Given the description of an element on the screen output the (x, y) to click on. 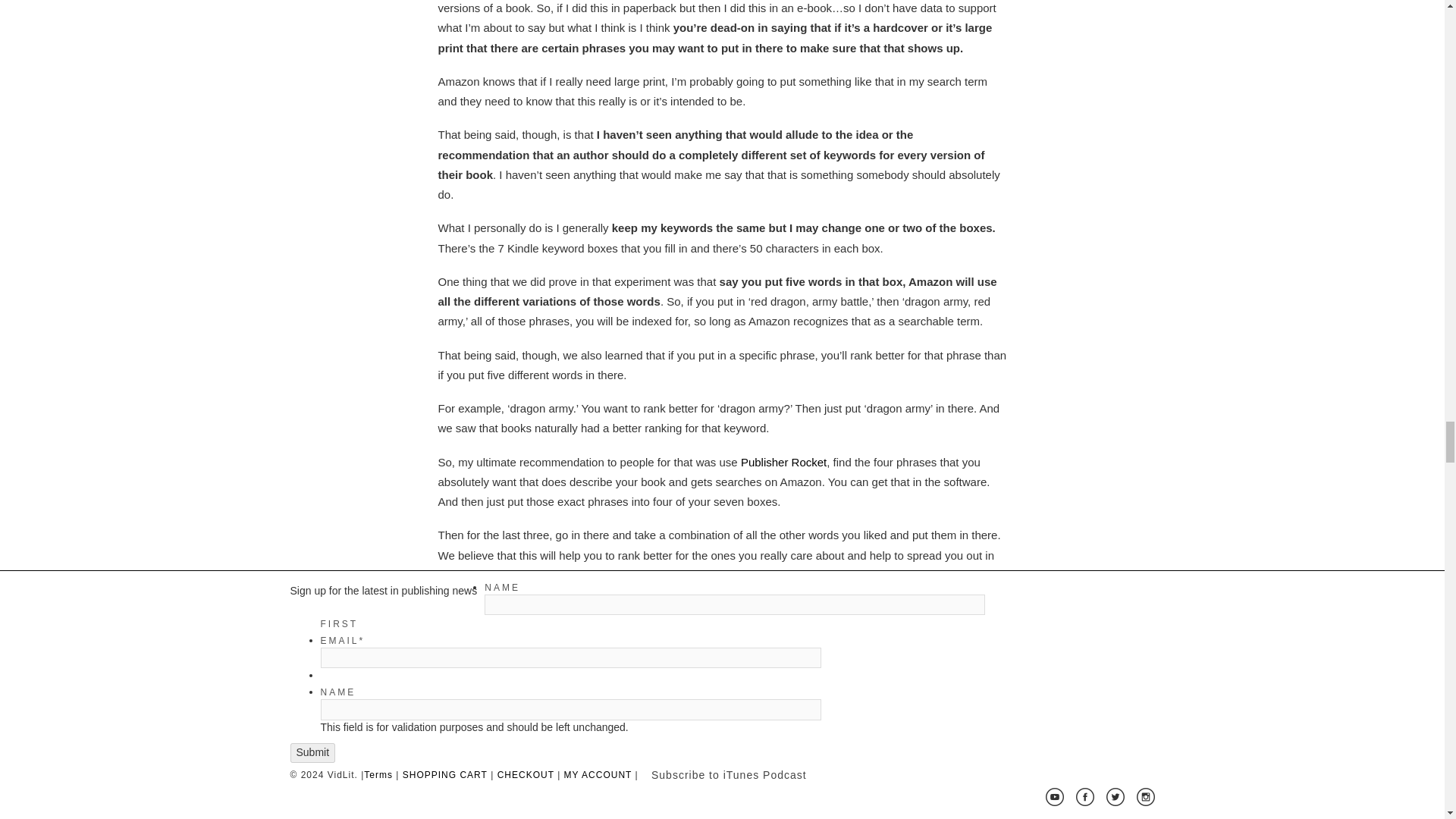
Publisher Rocket (784, 461)
